Given the description of an element on the screen output the (x, y) to click on. 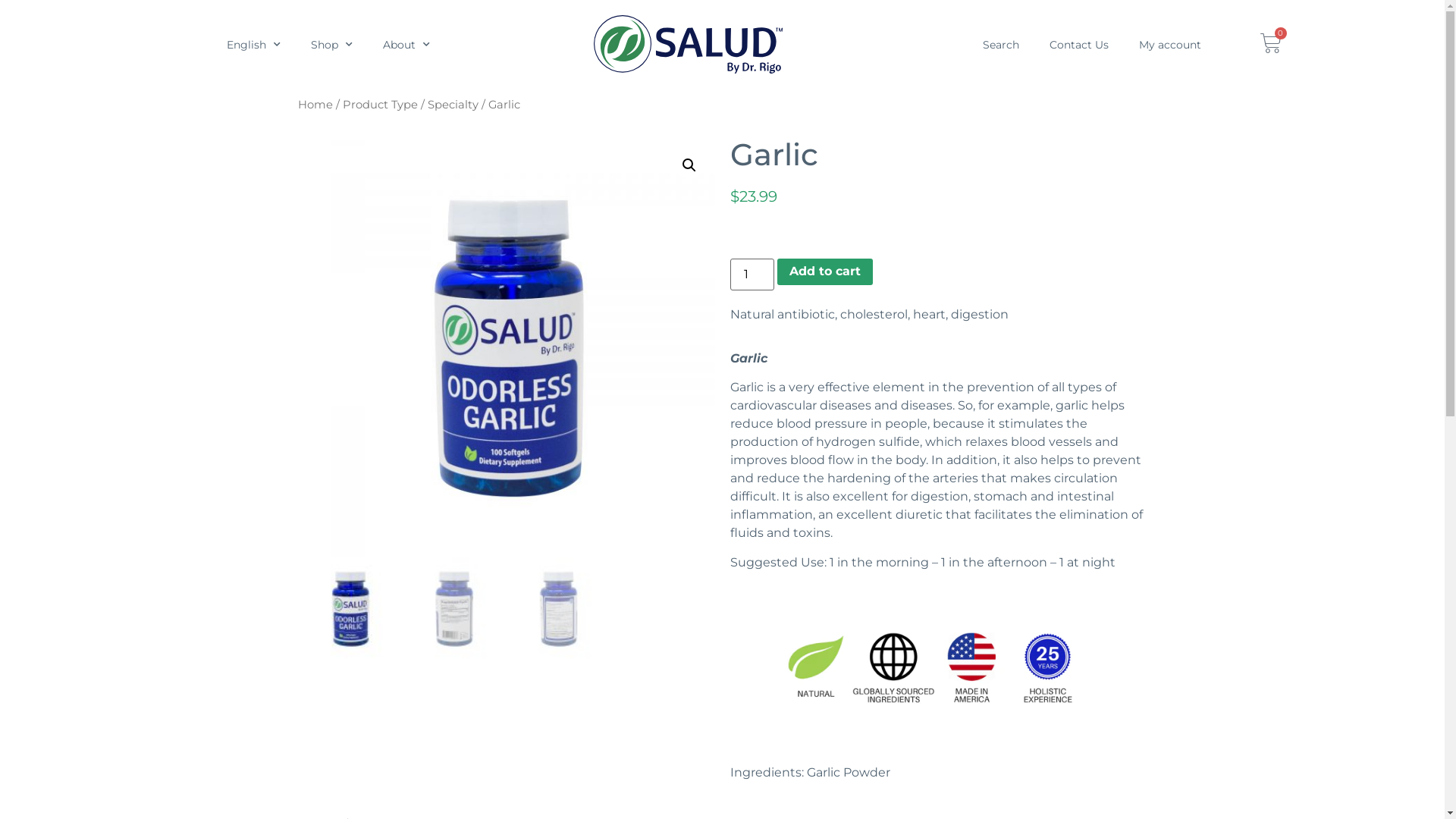
Garlic 1 Element type: hover (505, 347)
About Element type: text (405, 44)
My account Element type: text (1173, 44)
Contact Us Element type: text (1078, 44)
Add to cart Element type: text (824, 271)
0 Element type: text (1270, 43)
English Element type: text (252, 44)
Shop Element type: text (331, 44)
Product Type Element type: text (379, 104)
Search Element type: text (1000, 44)
Home Element type: text (314, 104)
Specialty Element type: text (452, 104)
